Given the description of an element on the screen output the (x, y) to click on. 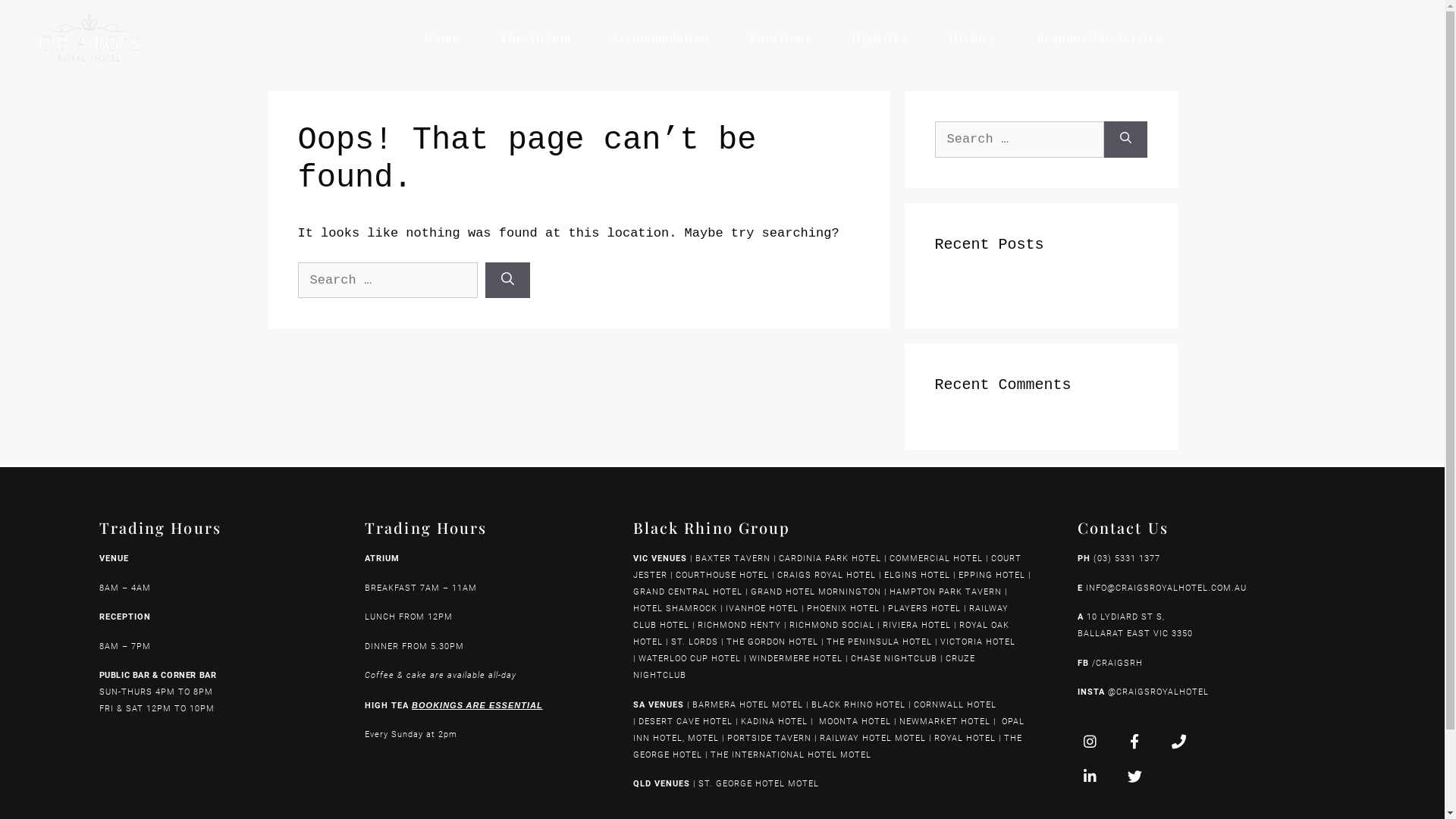
ROYAL OAK HOTEL Element type: text (821, 633)
IVANHOE HOTEL Element type: text (761, 608)
THE PENINSULA HOTEL Element type: text (878, 641)
History Element type: text (972, 37)
THE GEORGE HOTEL Element type: text (827, 745)
HAMPTON PARK TAVERN Element type: text (945, 591)
RICHMOND HENTY Element type: text (739, 625)
VICTORIA HOTEL Element type: text (977, 641)
CHASE NIGHTCLUB Element type: text (893, 658)
Home Element type: text (441, 37)
ROYAL HOTEL | Element type: text (967, 737)
THE INTERNATIONAL HOTEL MOTEL   Element type: text (793, 754)
PHOENIX HOTEL Element type: text (842, 608)
COMMERCIAL HOTEL Element type: text (935, 558)
RIVIERA HOTEL Element type: text (916, 625)
COURT JESTER Element type: text (827, 566)
BLACK RHINO HOTEL Element type: text (856, 704)
BAXTER TAVERN Element type: text (732, 558)
Accommodation Element type: text (660, 37)
CORNWALL HOTEL Element type: text (954, 704)
Search for: Element type: hover (1018, 139)
ST. LORDS Element type: text (694, 641)
DESERT CAVE HOTEL Element type: text (685, 720)
CRAIGS ROYAL HOTEL Element type: text (826, 575)
ST. GEORGE HOTEL MOTEL Element type: text (758, 783)
RAILWAY CLUB HOTEL Element type: text (820, 616)
HOTEL SHAMROCK Element type: text (675, 608)
CRUZE NIGHTCLUB  Element type: text (804, 666)
WATERLOO CUP HOTEL Element type: text (689, 658)
The Atrium Element type: text (535, 37)
THE GORDON HOTEL Element type: text (772, 641)
PORTSIDE TAVERN Element type: text (767, 737)
Functions Element type: text (780, 37)
 OPAL INN HOTEL, MOTEL Element type: text (828, 728)
ELGINS HOTEL Element type: text (917, 575)
Hello world! Element type: text (980, 287)
RICHMOND SOCIAL Element type: text (831, 625)
PLAYERS HOTEL Element type: text (924, 608)
Black Rhino Group Element type: text (711, 527)
COURTHOUSE HOTEL Element type: text (721, 575)
Responsible Service Element type: text (1099, 37)
GRAND HOTEL MORNINGTON Element type: text (815, 591)
GRAND CENTRAL HOTEL Element type: text (687, 591)
Search for: Element type: hover (386, 280)
MOONTA HOTEL Element type: text (855, 720)
CARDINIA PARK HOTEL Element type: text (829, 558)
WINDERMERE HOTEL Element type: text (795, 658)
High Tea Element type: text (879, 37)
BARMERA HOTEL MOTEL Element type: text (747, 704)
EPPING HOTEL Element type: text (991, 575)
KADINA HOTEL Element type: text (773, 720)
NEWMARKET HOTEL Element type: text (944, 720)
RAILWAY HOTEL MOTEL Element type: text (872, 737)
